Given the description of an element on the screen output the (x, y) to click on. 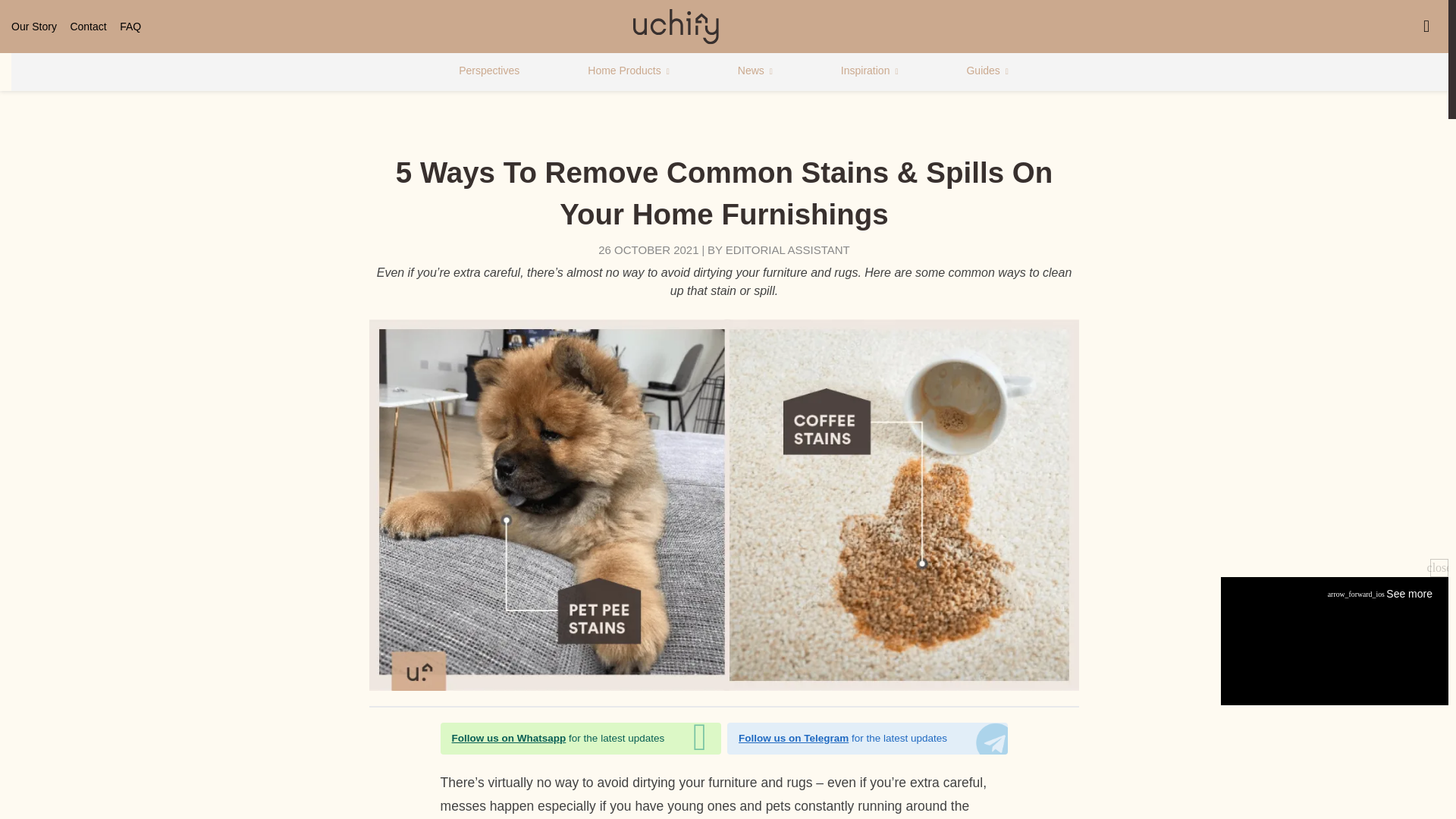
FAQ (136, 26)
News (755, 71)
Perspectives (488, 71)
Our Story (40, 26)
Home Products (628, 71)
Posts by Editorial Assistant (787, 249)
Contact (94, 26)
